Given the description of an element on the screen output the (x, y) to click on. 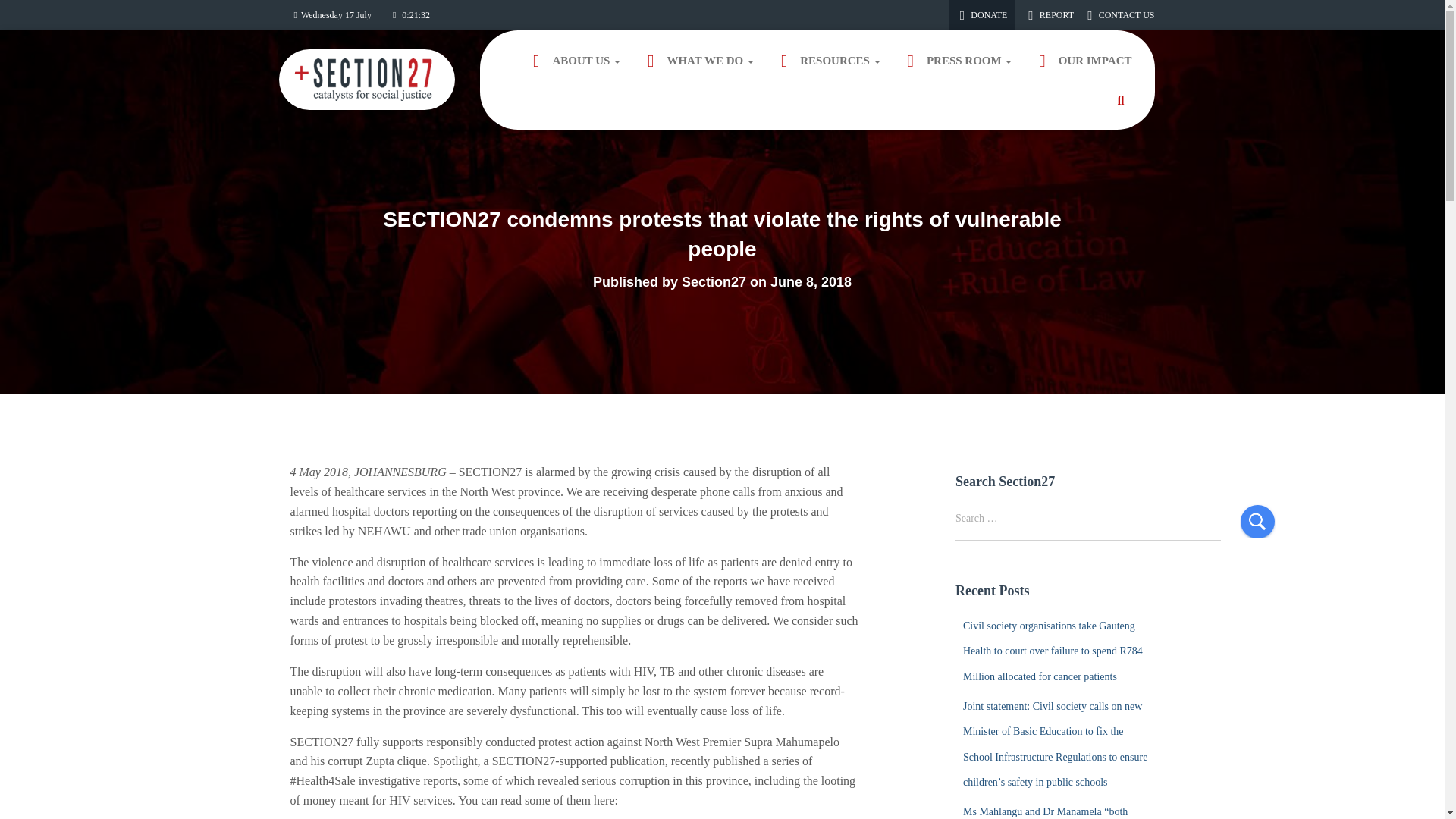
WHAT WE DO (698, 60)
Section27 (366, 79)
Search (1257, 521)
CONTACT US (1118, 15)
CONTACT US (1118, 15)
ABOUT US (573, 60)
RESOURCES (828, 60)
DONATE (981, 15)
Search (1257, 521)
What We Do (698, 60)
REPORT (1049, 15)
DONATE (981, 15)
About Us (573, 60)
REPORT (1049, 15)
